Given the description of an element on the screen output the (x, y) to click on. 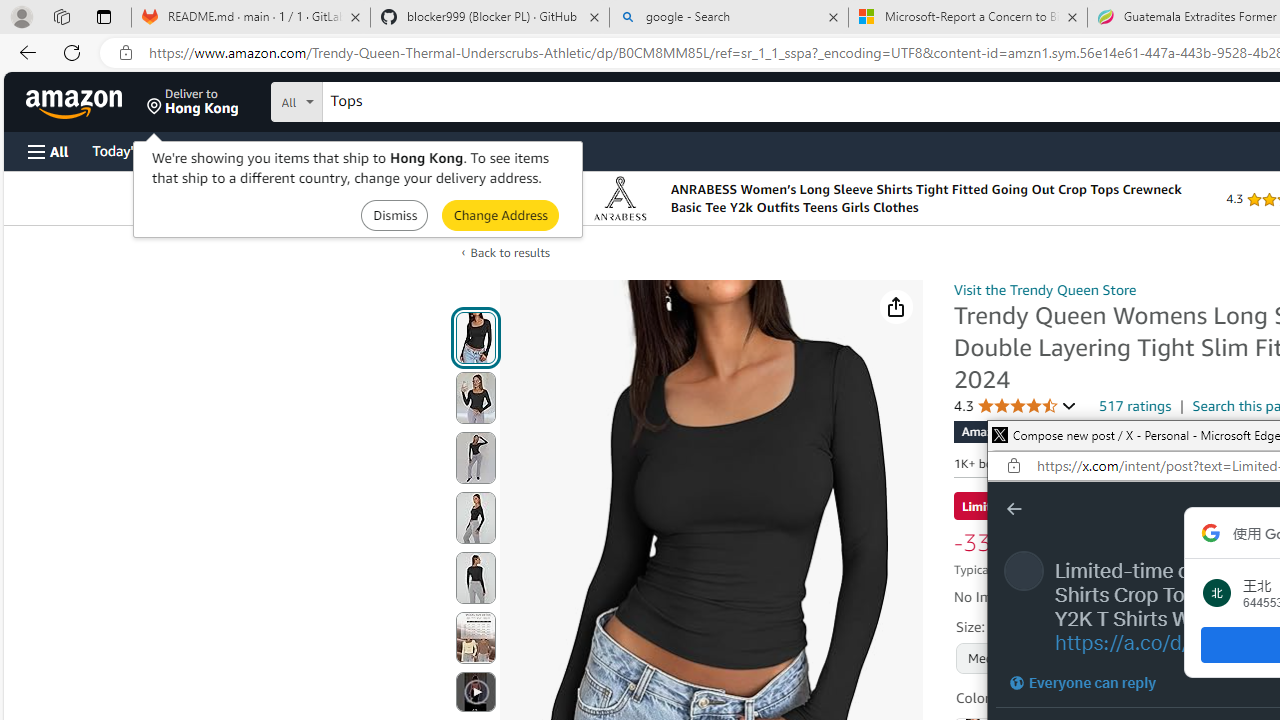
Deliver to Hong Kong (193, 101)
Logo (619, 198)
Back to results (509, 251)
Skip to main content (86, 100)
Open Menu (48, 151)
517 ratings (1135, 405)
Everyone can reply (1081, 682)
Gift Cards (442, 150)
